Given the description of an element on the screen output the (x, y) to click on. 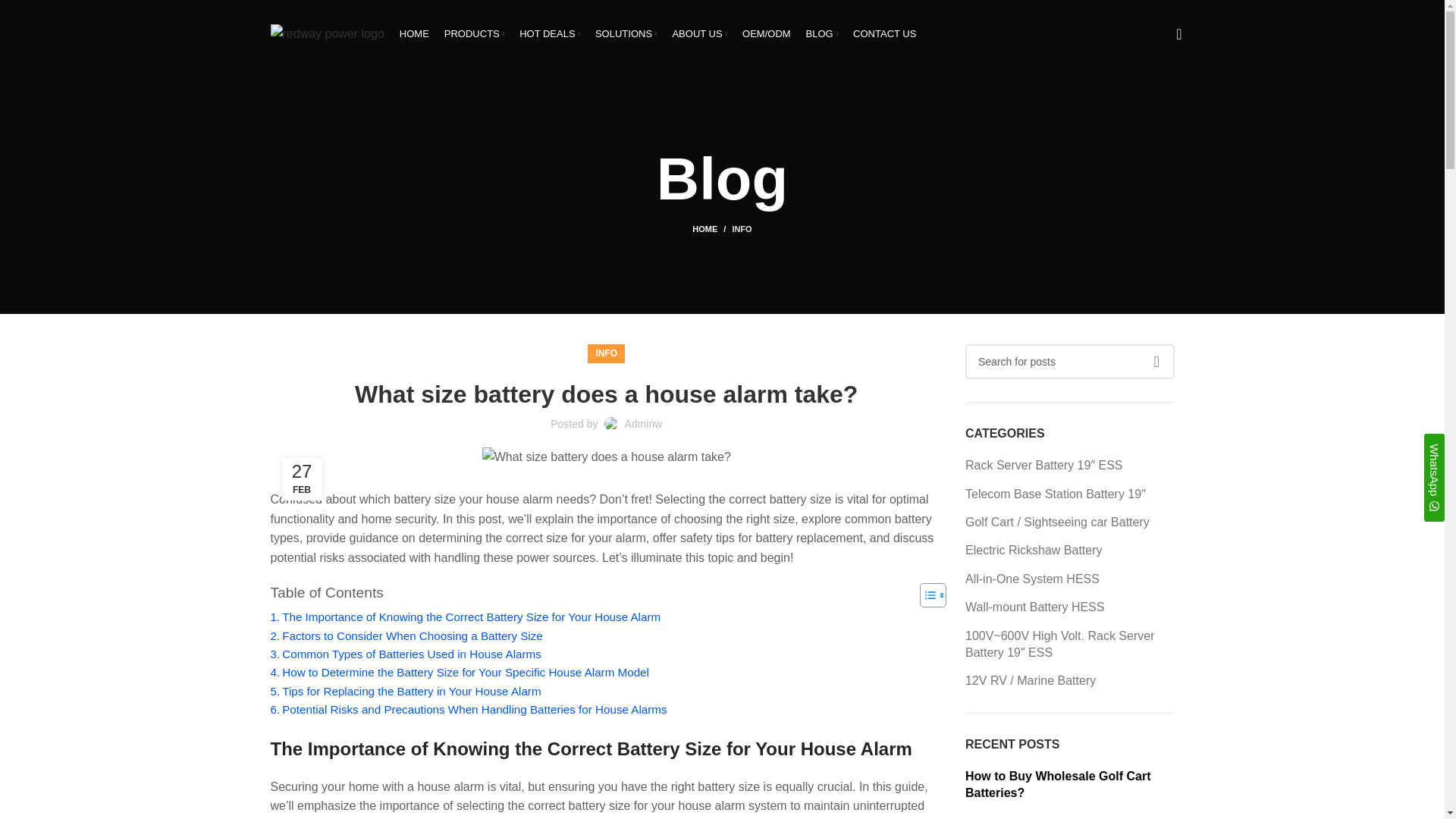
HOME (413, 33)
Factors to Consider When Choosing a Battery Size (405, 636)
Permalink to How to Buy Wholesale Golf Cart Batteries? (1057, 784)
Search for posts (1069, 361)
PRODUCTS (473, 33)
Tips for Replacing the Battery in Your House Alarm (404, 691)
Common Types of Batteries Used in House Alarms (404, 654)
